Given the description of an element on the screen output the (x, y) to click on. 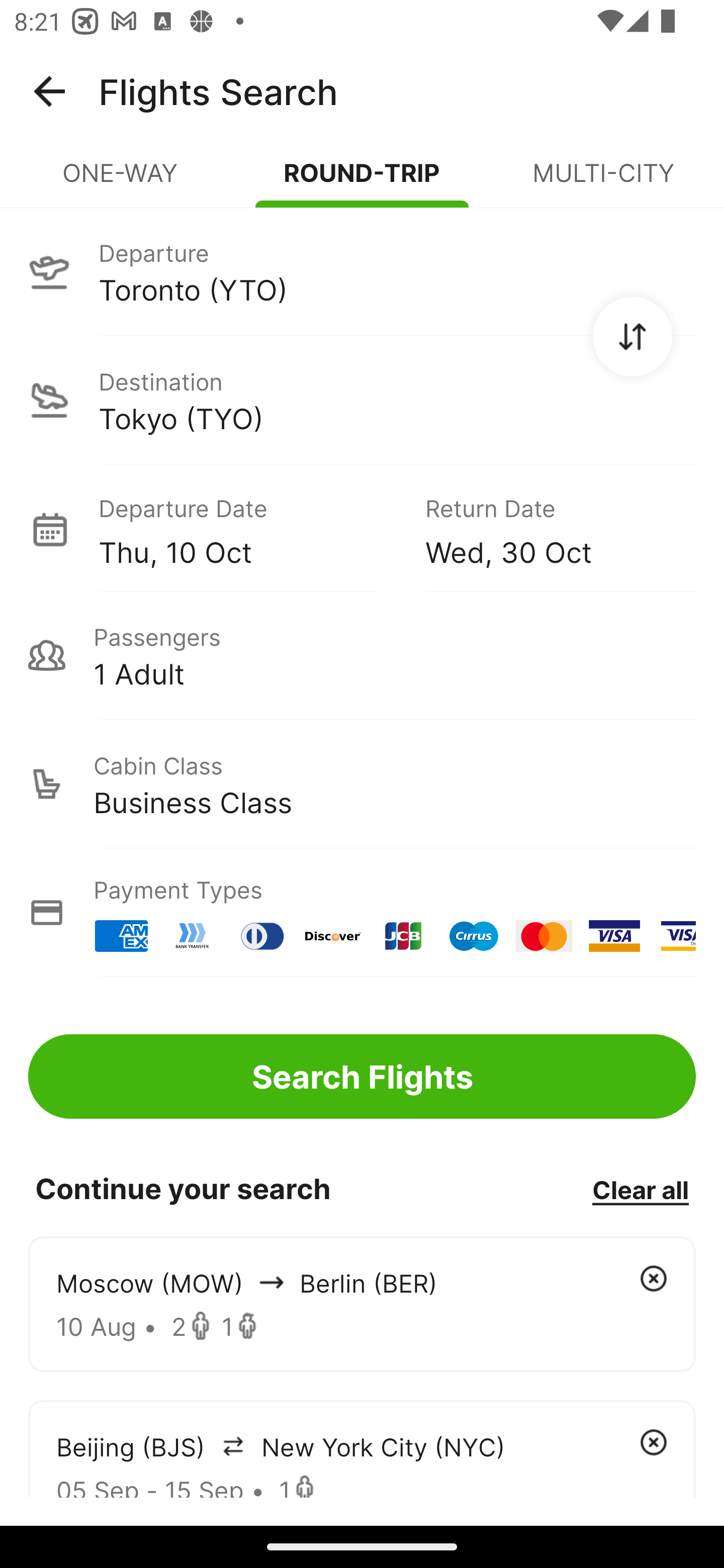
ONE-WAY (120, 180)
ROUND-TRIP (361, 180)
MULTI-CITY (603, 180)
Departure Toronto (YTO) (362, 270)
Destination Tokyo (TYO) (362, 400)
Departure Date Thu, 10 Oct (247, 528)
Return Date Wed, 30 Oct (546, 528)
Passengers 1 Adult (362, 655)
Cabin Class Business Class (362, 783)
Payment Types (362, 912)
Search Flights (361, 1075)
Clear all (640, 1189)
